Given the description of an element on the screen output the (x, y) to click on. 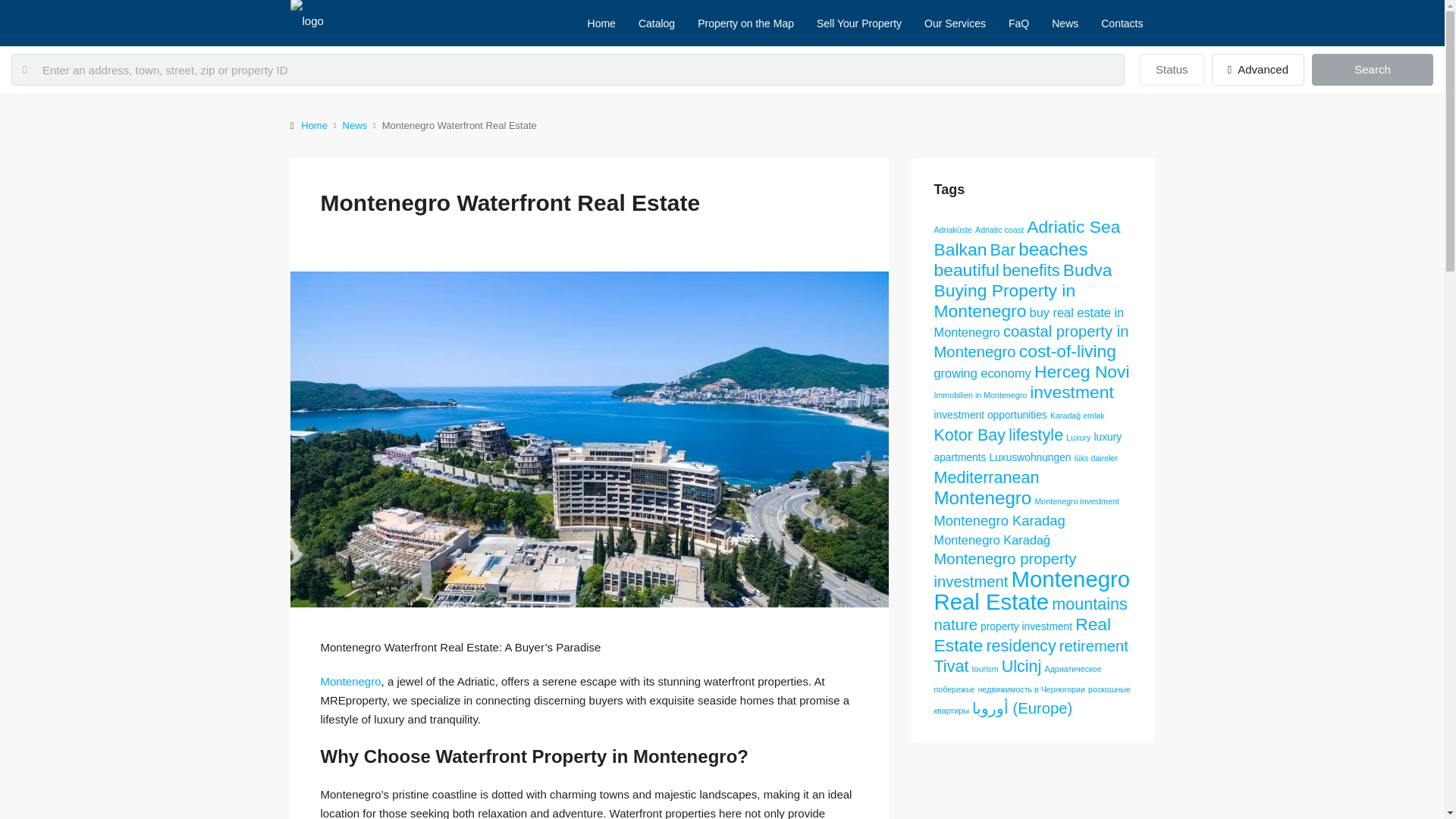
Sell Your Property (858, 22)
Home (601, 22)
Our Services (954, 22)
News (355, 125)
Property on the Map (745, 22)
Advanced (1257, 69)
Search (1371, 69)
FaQ (1019, 22)
Status (1172, 69)
Catalog (656, 22)
